Given the description of an element on the screen output the (x, y) to click on. 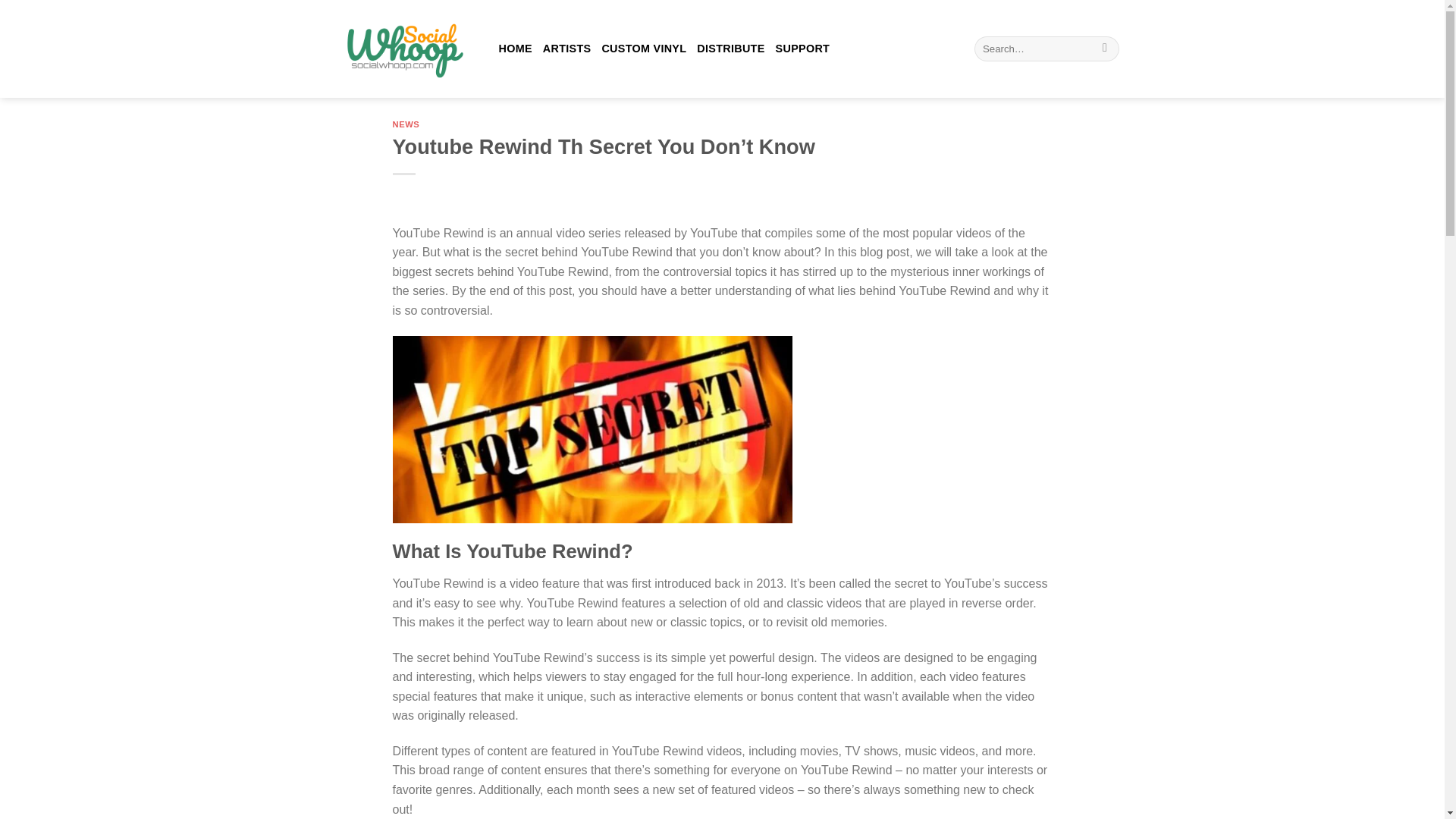
CUSTOM VINYL (643, 48)
NEWS (406, 123)
Search (1105, 49)
ARTISTS (567, 48)
SUPPORT (802, 48)
SocialWhoop! - Promote your Business Today! (400, 48)
DISTRIBUTE (730, 48)
HOME (515, 48)
